Given the description of an element on the screen output the (x, y) to click on. 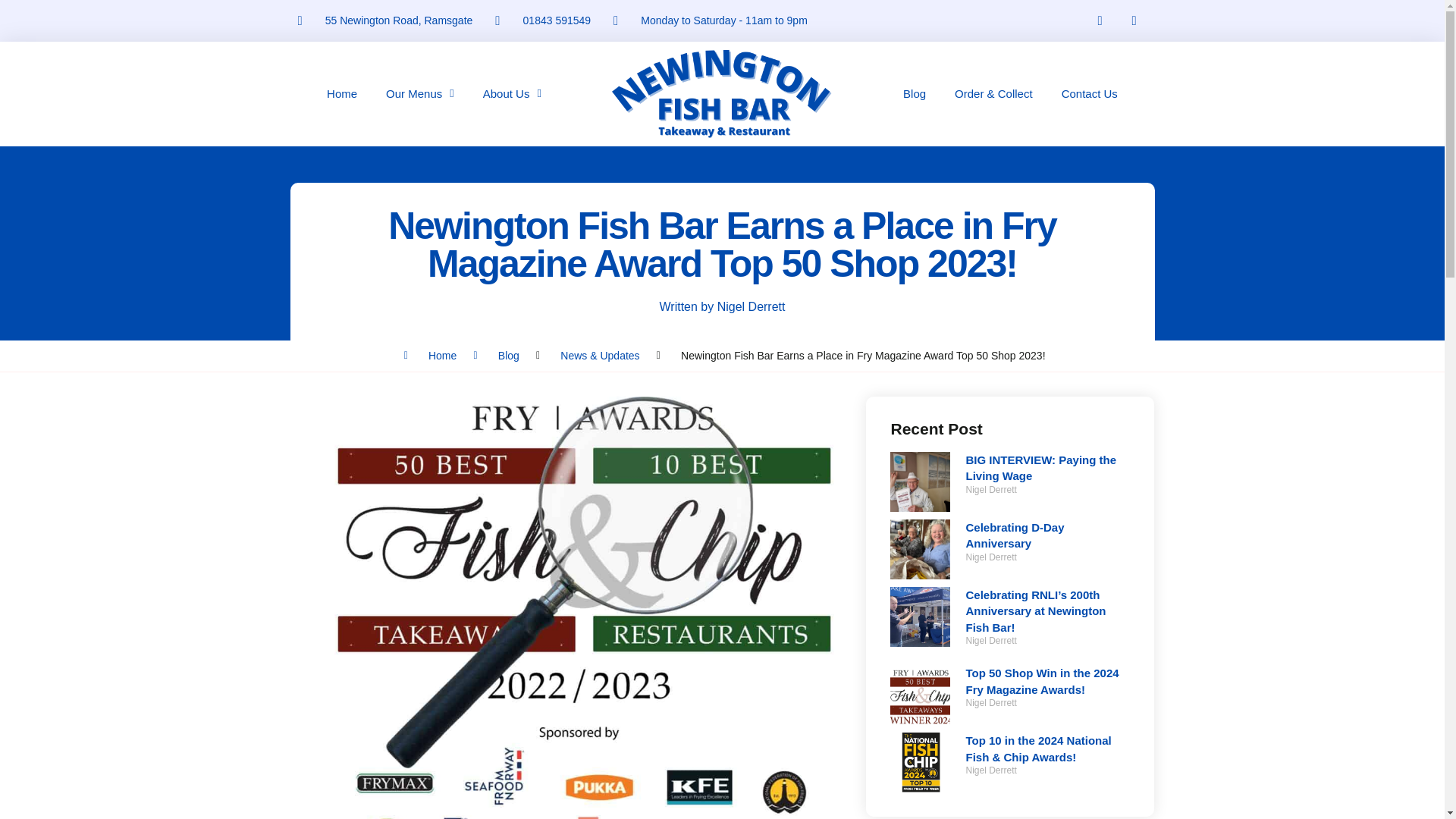
Our Menus (419, 93)
Contact Us (1089, 93)
01843 591549 (543, 20)
55 Newington Road, Ramsgate (384, 20)
Monday to Saturday - 11am to 9pm (710, 20)
About Us (512, 93)
